Given the description of an element on the screen output the (x, y) to click on. 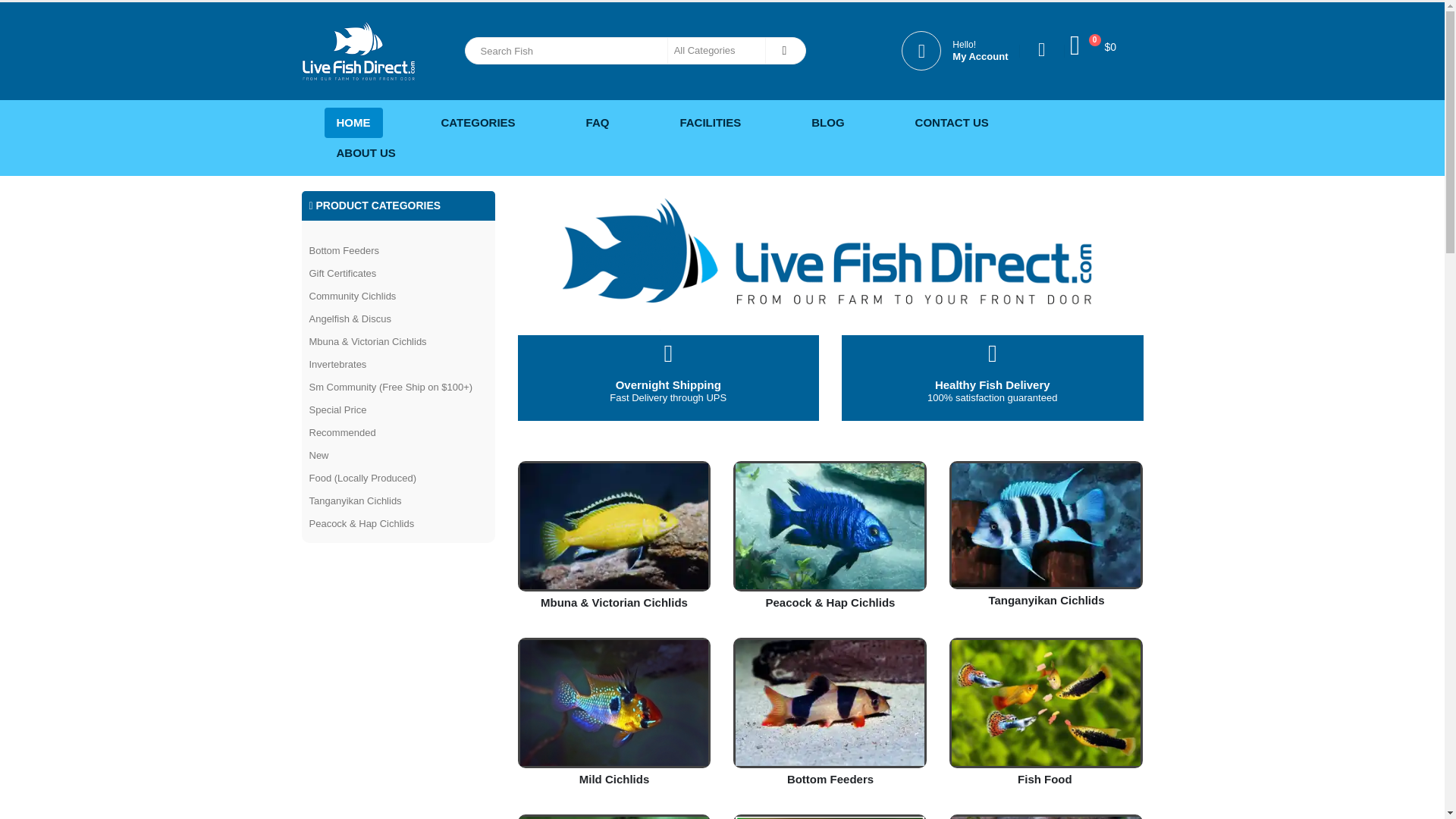
ABOUT US (365, 153)
community cichlid (614, 702)
CONTACT US (951, 122)
logo1 (829, 262)
CATEGORIES (478, 122)
FAQ (597, 122)
Cobalt Discus 1 (1046, 817)
tangs (1046, 525)
Boesemani Rainbow 1 (614, 817)
Search (783, 50)
Clown Loach Care and Behavior (829, 702)
FACILITIES (954, 50)
BLOG (709, 122)
